Given the description of an element on the screen output the (x, y) to click on. 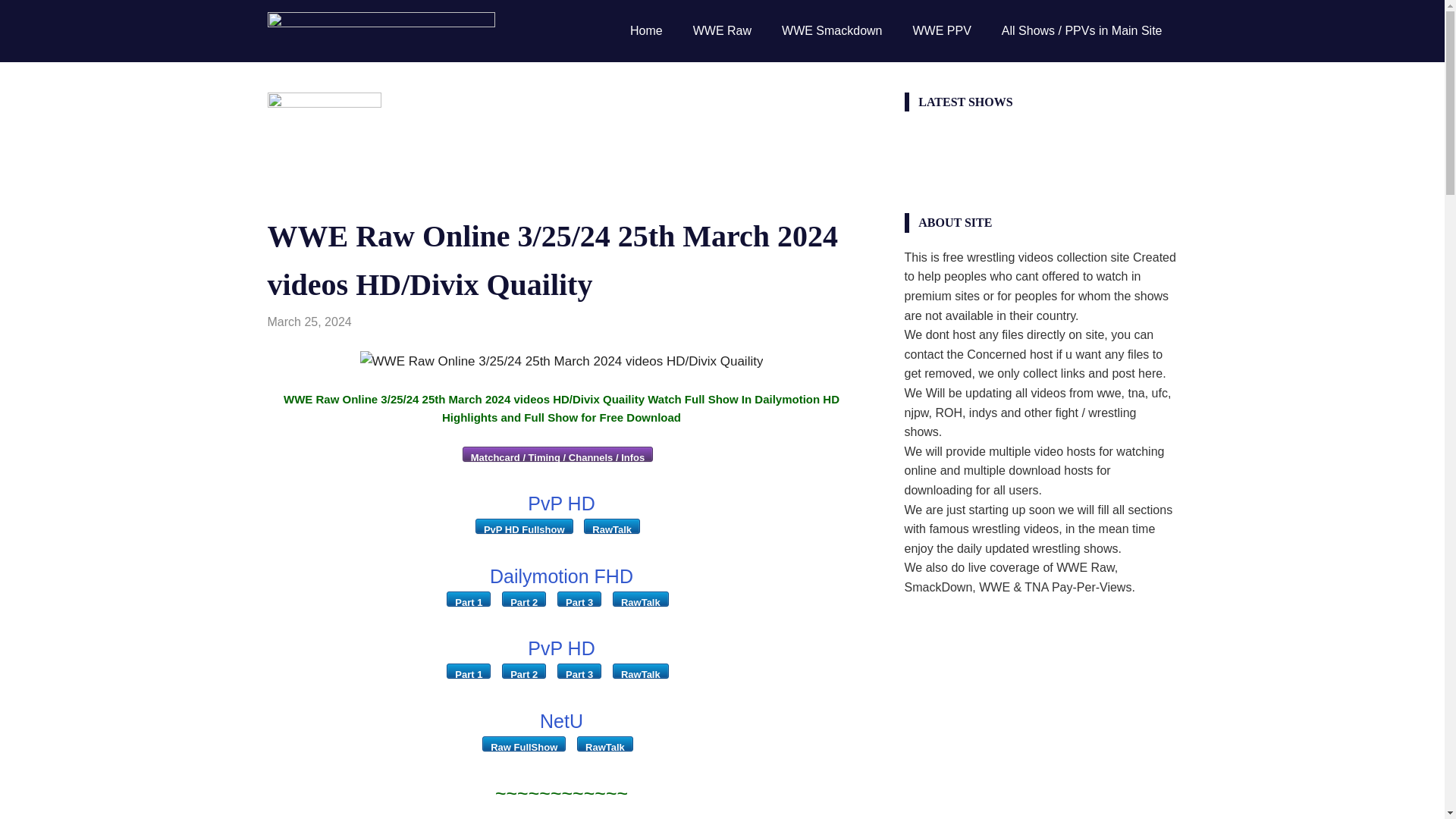
RawTalk (604, 743)
WWE Smackdown (831, 30)
Admin (368, 321)
Part 3 (579, 670)
6:27 am (308, 321)
Part 3 (579, 598)
WWE Raw (468, 321)
RawTalk (640, 598)
Home (646, 30)
March 25, 2024 (308, 321)
Watchwrestling (392, 321)
Part 2 (524, 598)
Part 2 (524, 670)
View all posts by Admin (368, 321)
WWE Raw (722, 30)
